Given the description of an element on the screen output the (x, y) to click on. 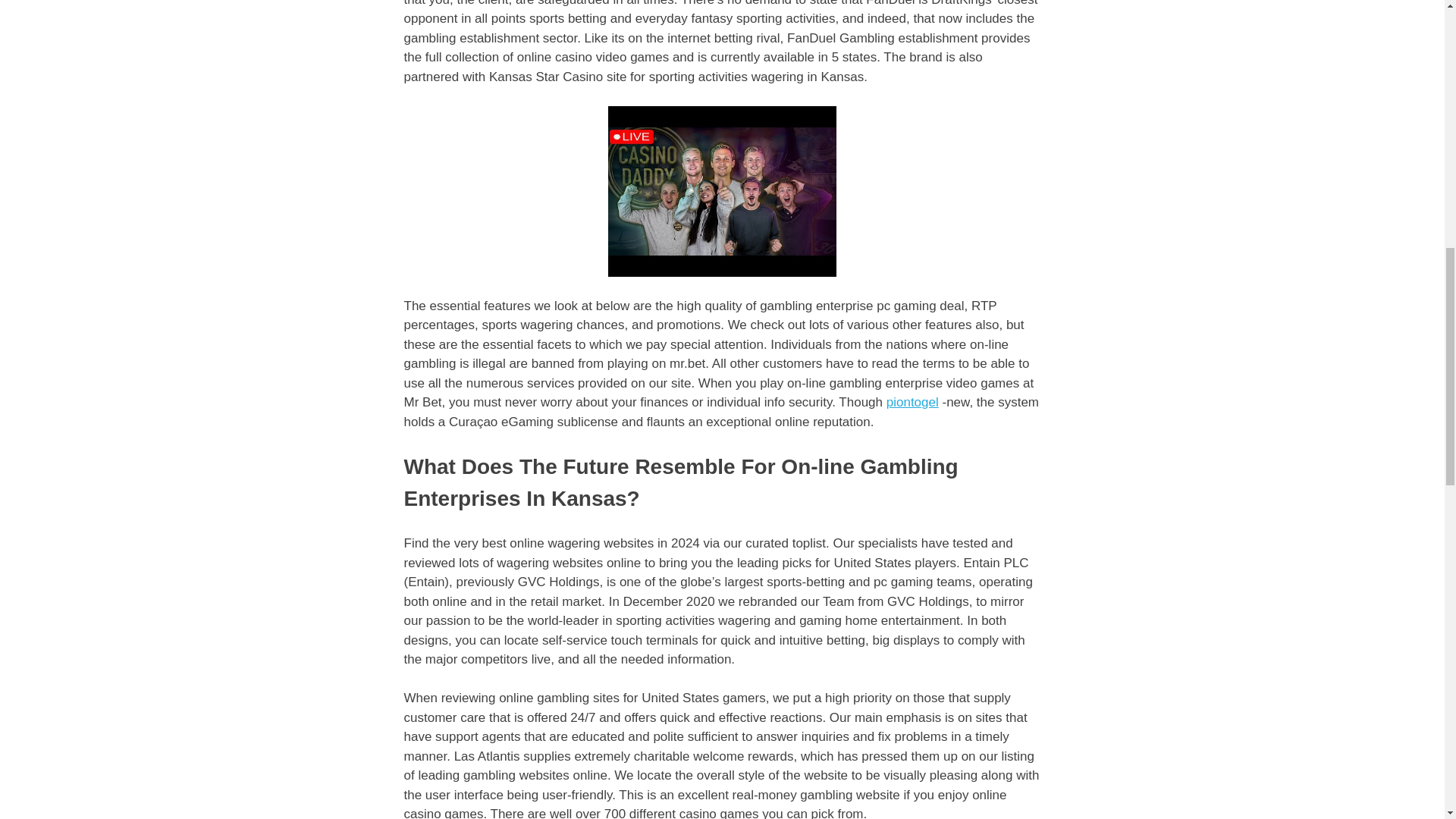
piontogel (912, 401)
